Given the description of an element on the screen output the (x, y) to click on. 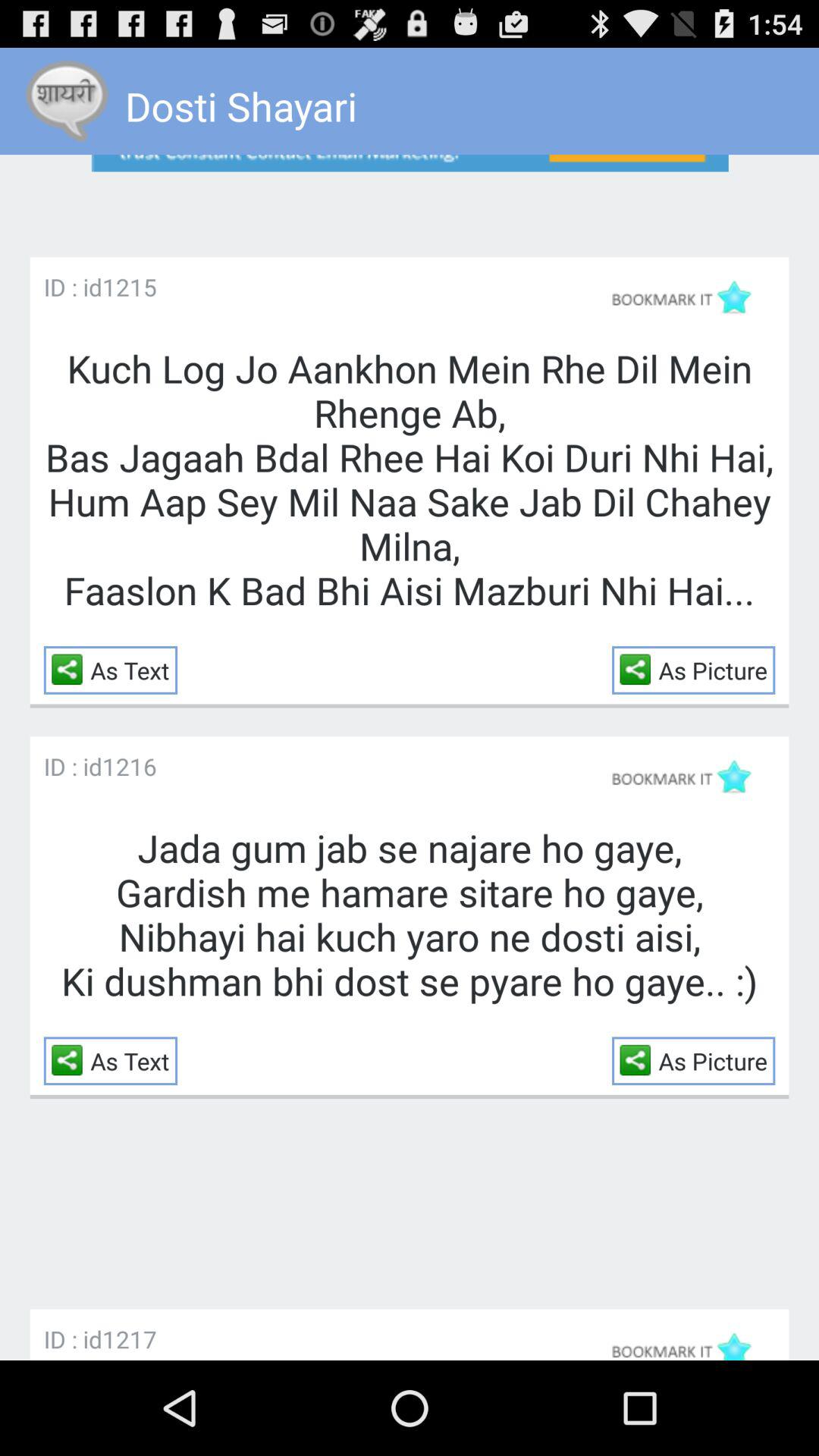
click the icon above the id : id item (409, 192)
